Given the description of an element on the screen output the (x, y) to click on. 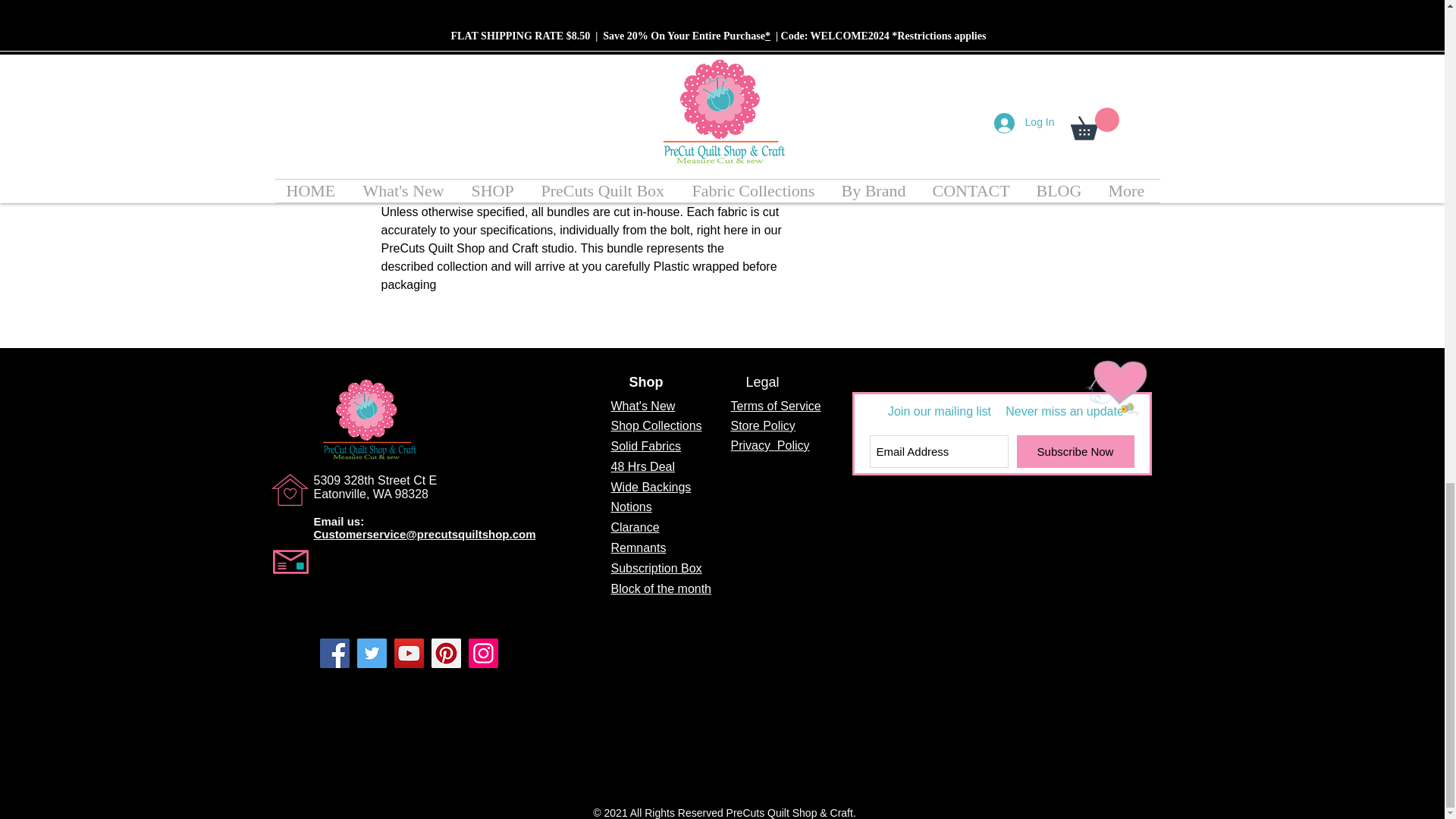
Precuts Quilt Shop Online Fabric Store (367, 419)
Contact us (1110, 375)
